Given the description of an element on the screen output the (x, y) to click on. 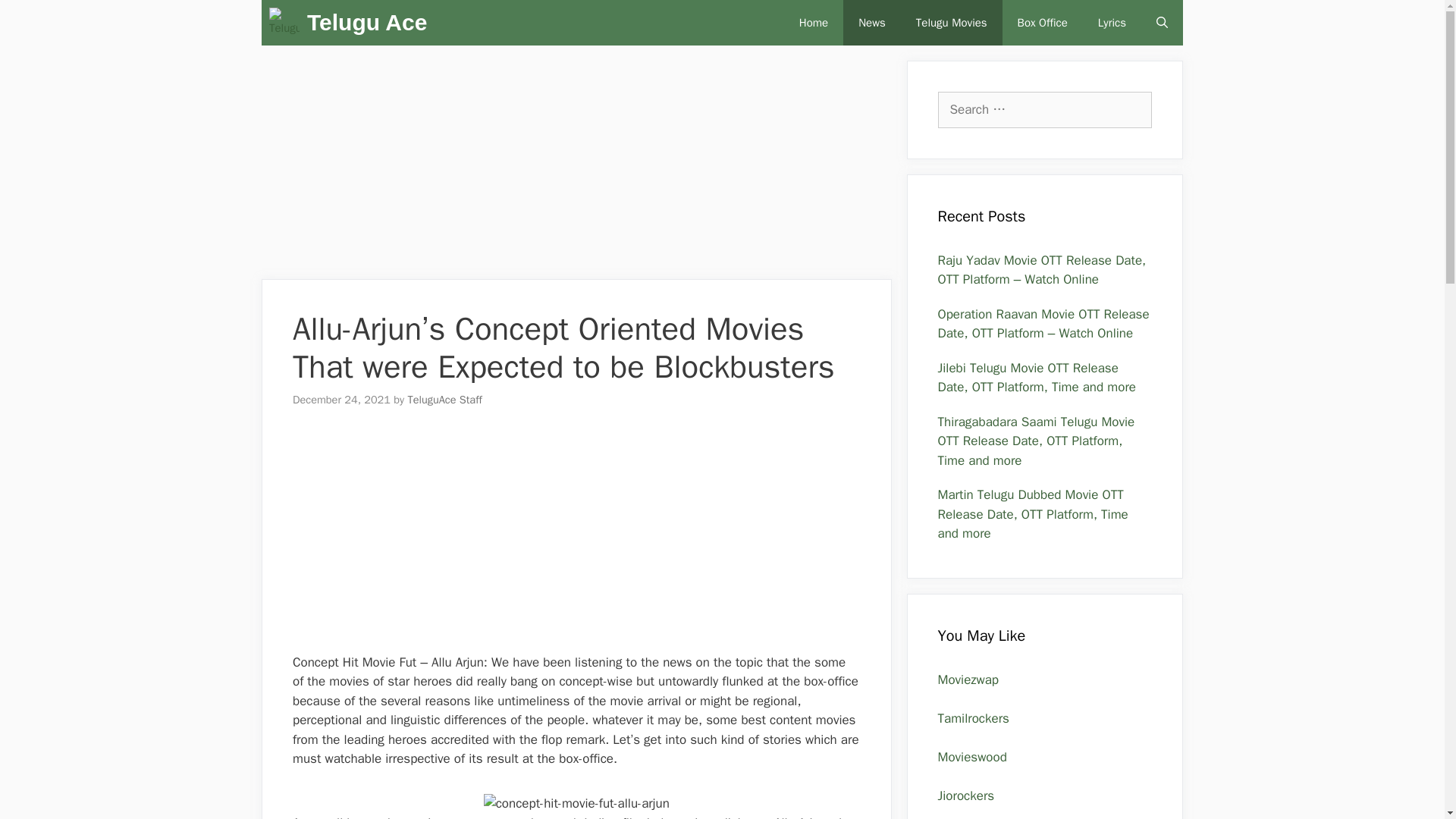
Advertisement (576, 166)
Movieswood (971, 756)
Telugu Ace (284, 22)
Search (33, 17)
Telugu Ace (366, 22)
Search for: (1044, 109)
Telugu Ace (288, 22)
Lyrics (1112, 22)
TeluguAce Staff (444, 399)
Telugu Movies (952, 22)
Jiorockers (965, 795)
Home (813, 22)
View all posts by TeluguAce Staff (444, 399)
Moviezwap (967, 679)
